Given the description of an element on the screen output the (x, y) to click on. 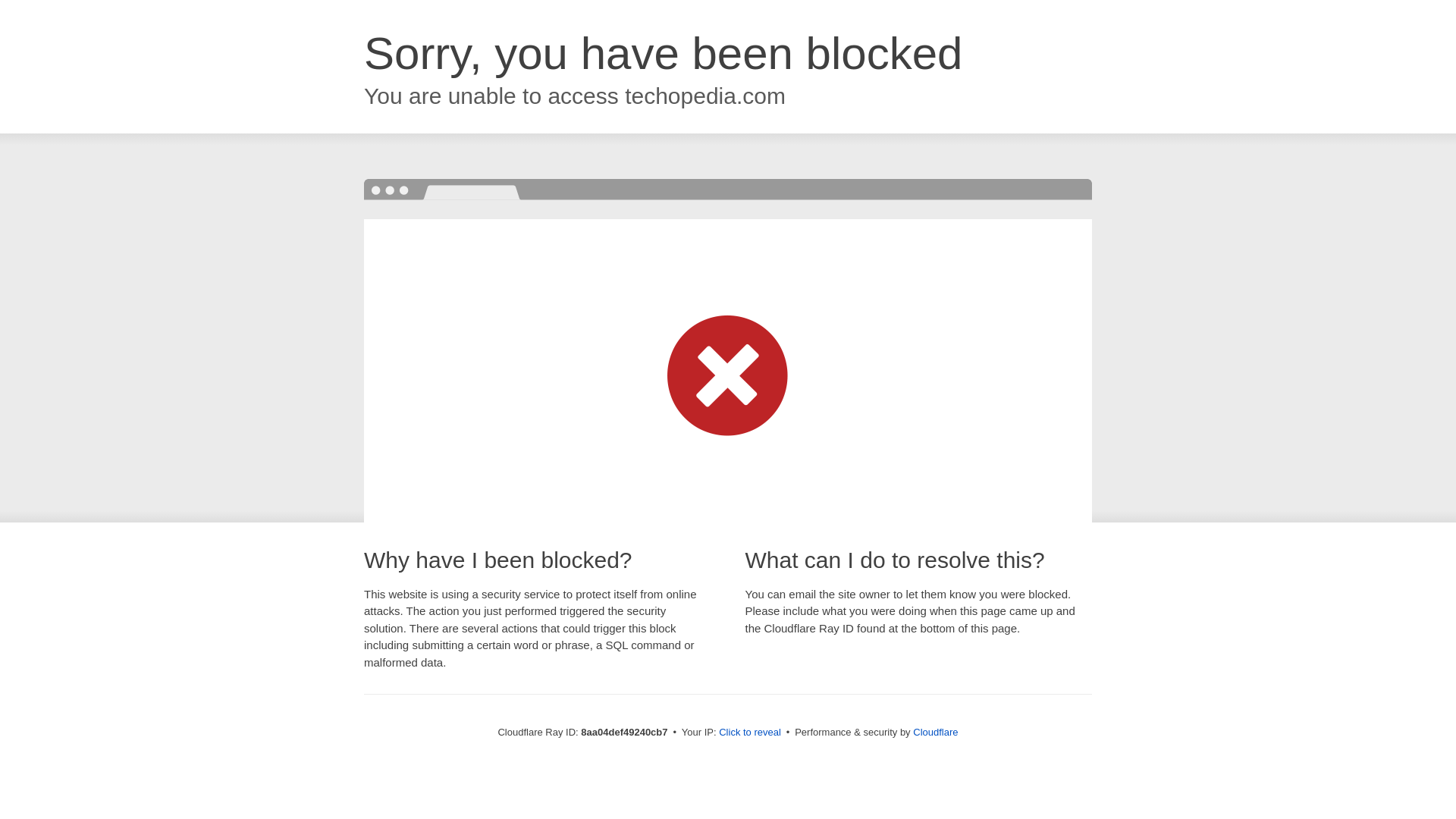
Click to reveal (749, 732)
Cloudflare (935, 731)
